Given the description of an element on the screen output the (x, y) to click on. 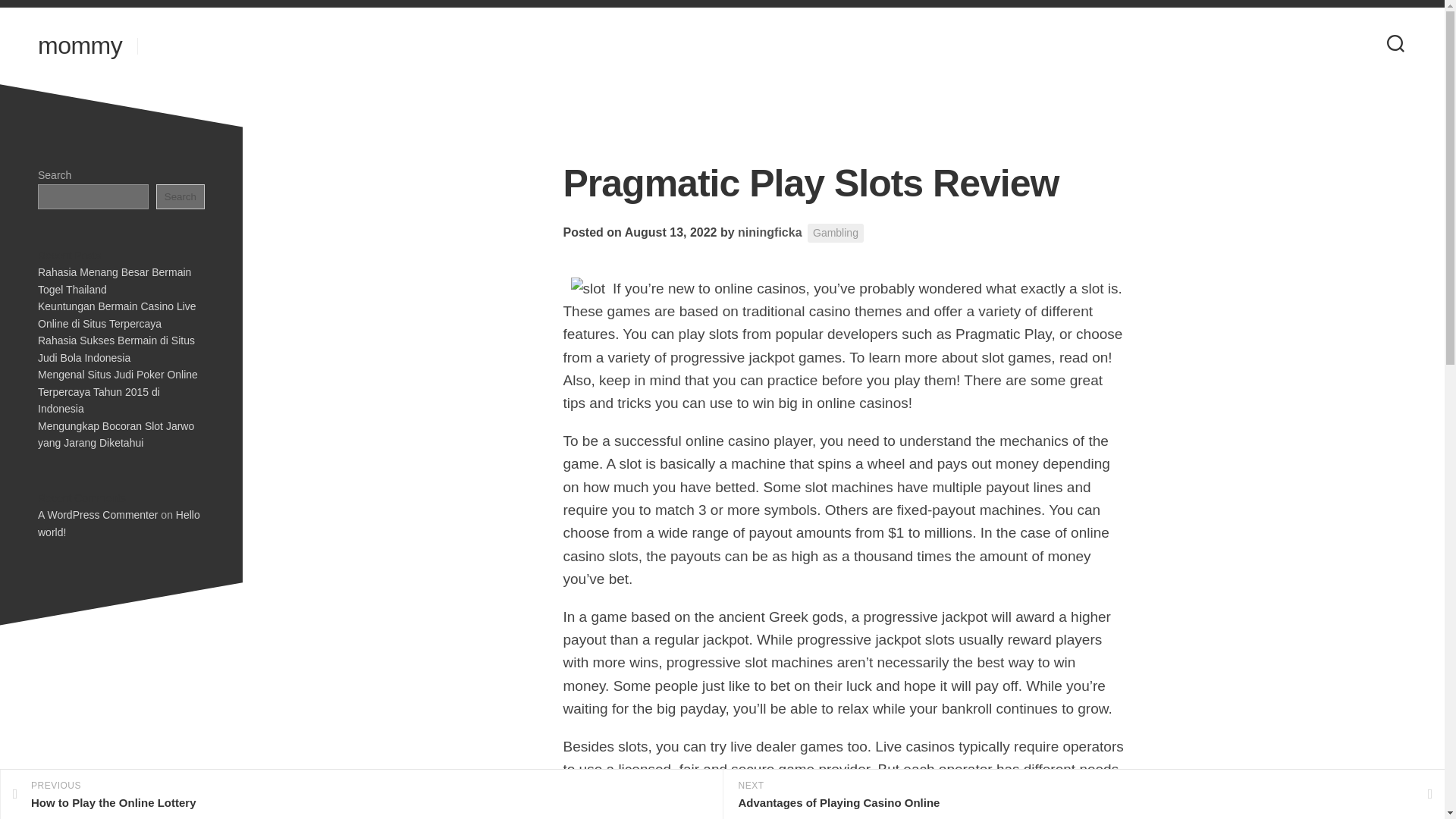
Search (180, 195)
Rahasia Menang Besar Bermain Togel Thailand (113, 280)
Posts by niningficka (770, 232)
Mengungkap Bocoran Slot Jarwo yang Jarang Diketahui (115, 434)
Rahasia Sukses Bermain di Situs Judi Bola Indonesia (361, 794)
Hello world! (116, 348)
Gambling (118, 523)
mommy (835, 232)
Keuntungan Bermain Casino Live Online di Situs Terpercaya (79, 44)
